Given the description of an element on the screen output the (x, y) to click on. 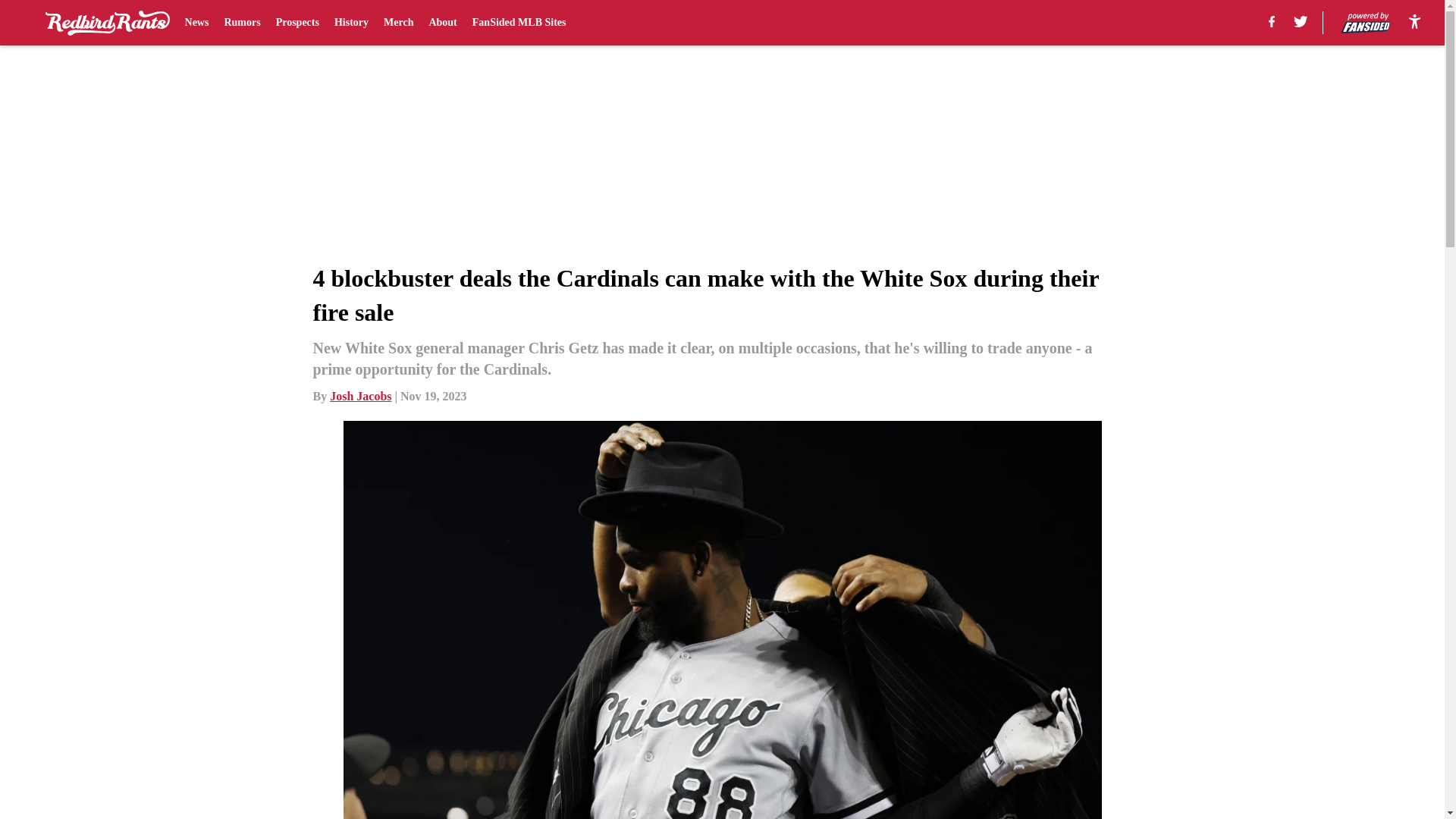
Rumors (242, 22)
Prospects (297, 22)
History (351, 22)
News (196, 22)
Josh Jacobs (360, 395)
Merch (398, 22)
About (442, 22)
FanSided MLB Sites (518, 22)
